Given the description of an element on the screen output the (x, y) to click on. 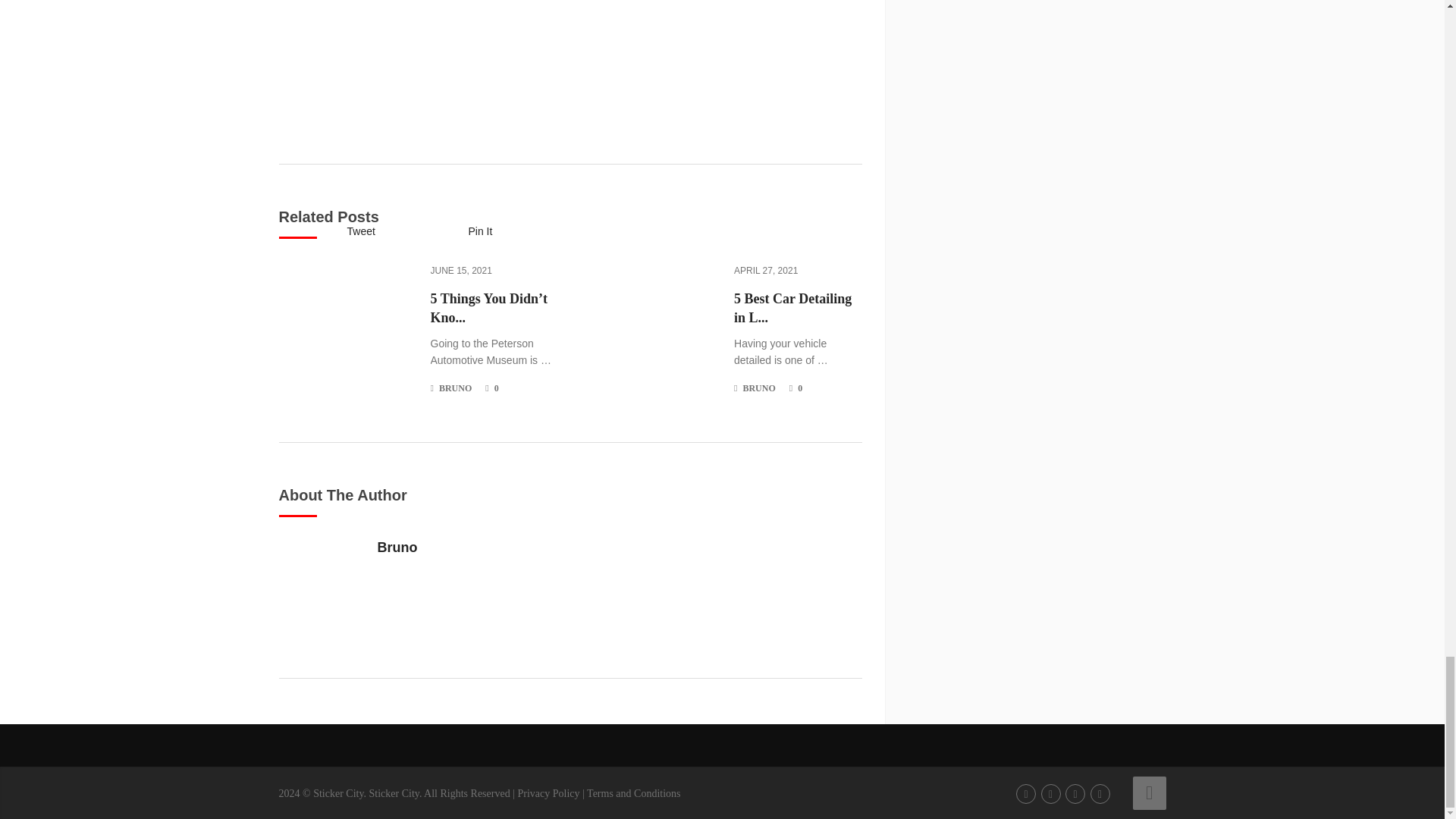
Posts by Bruno (758, 388)
5 Best Car Detailing in Los Angeles (797, 308)
BRUNO (455, 388)
Clear Bra Installation in Los Angeles (337, 793)
Posts by Bruno (455, 388)
